Given the description of an element on the screen output the (x, y) to click on. 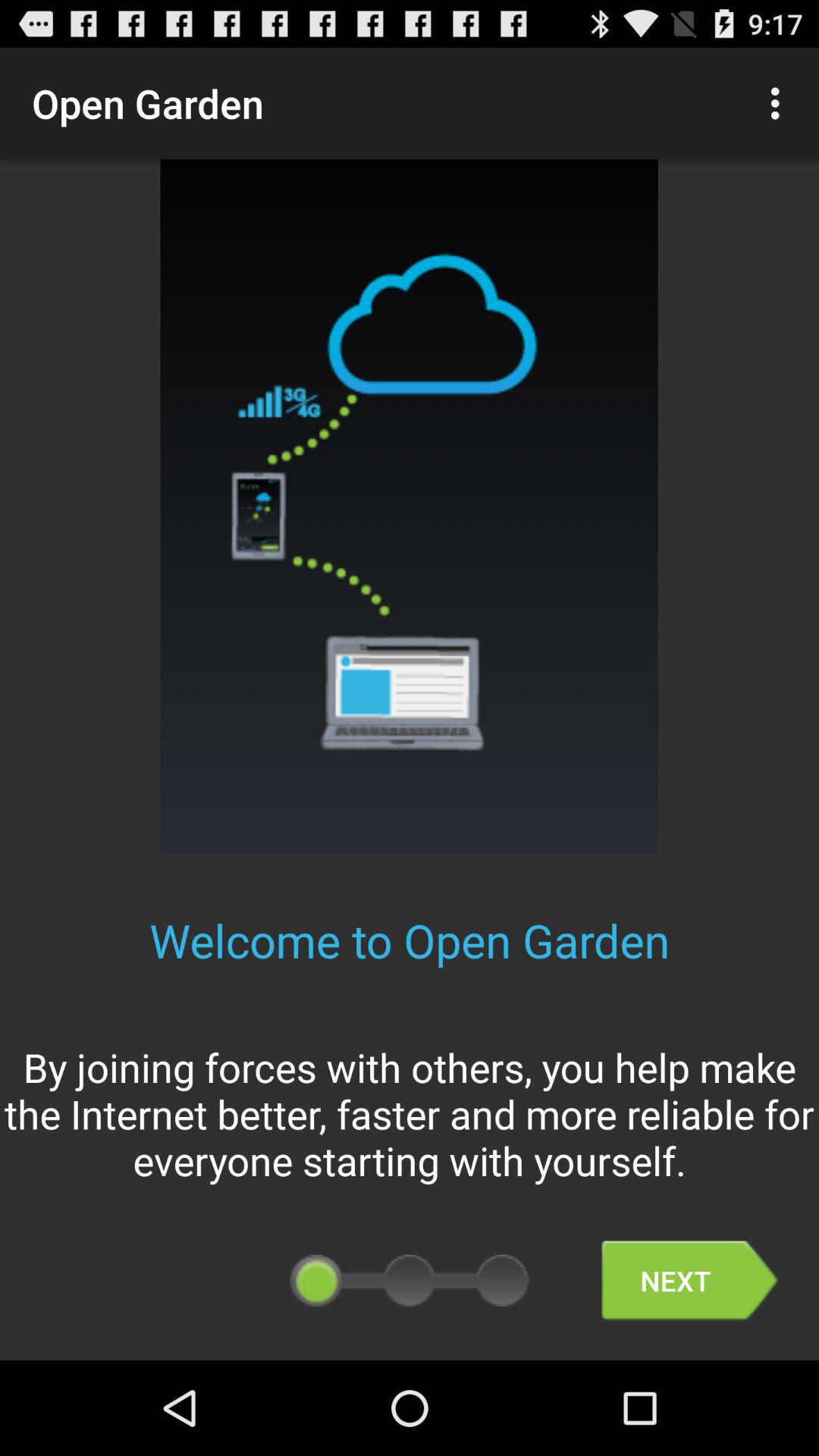
launch the icon above the welcome to open (779, 103)
